Given the description of an element on the screen output the (x, y) to click on. 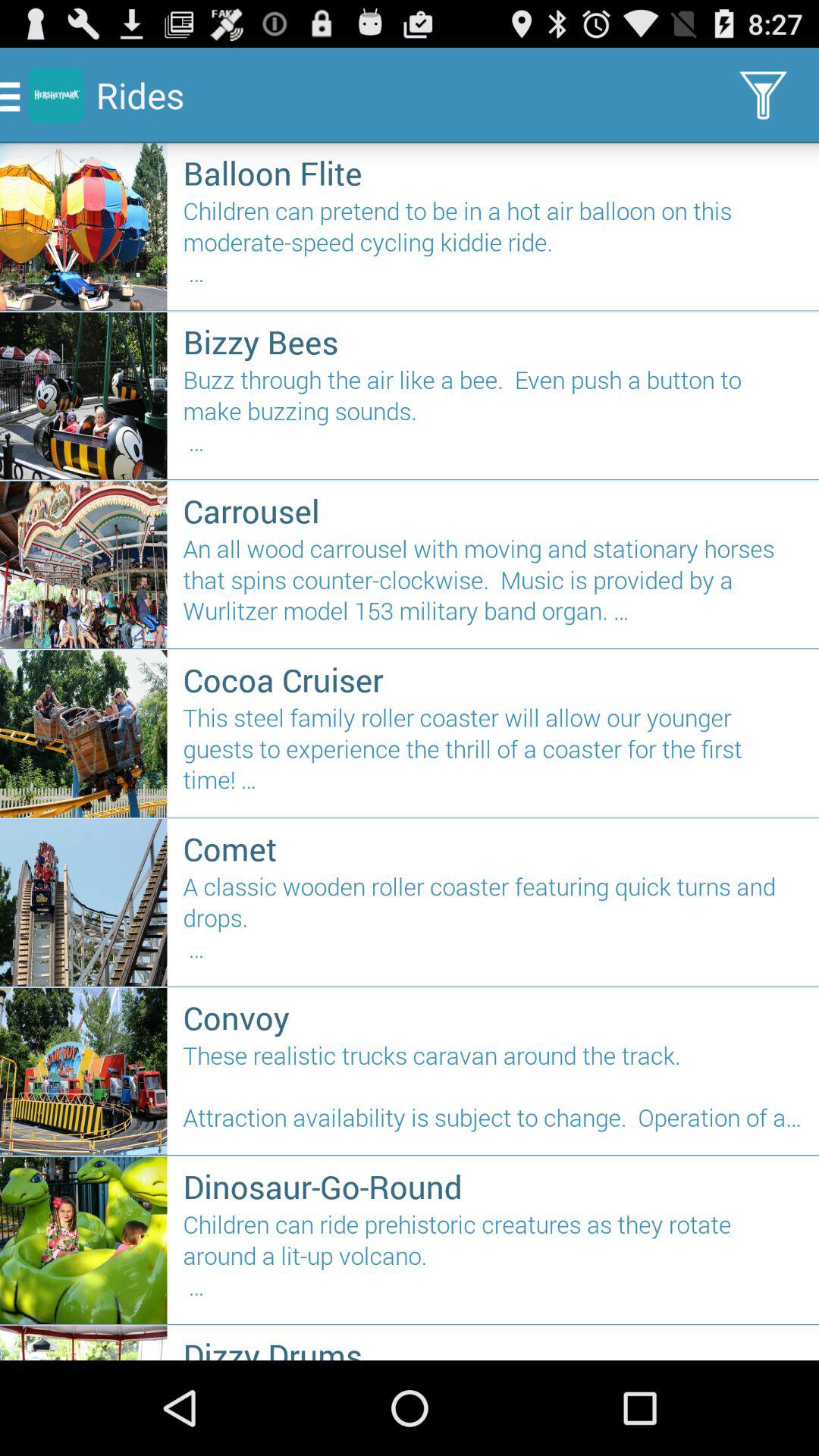
select buzz through the item (493, 417)
